Given the description of an element on the screen output the (x, y) to click on. 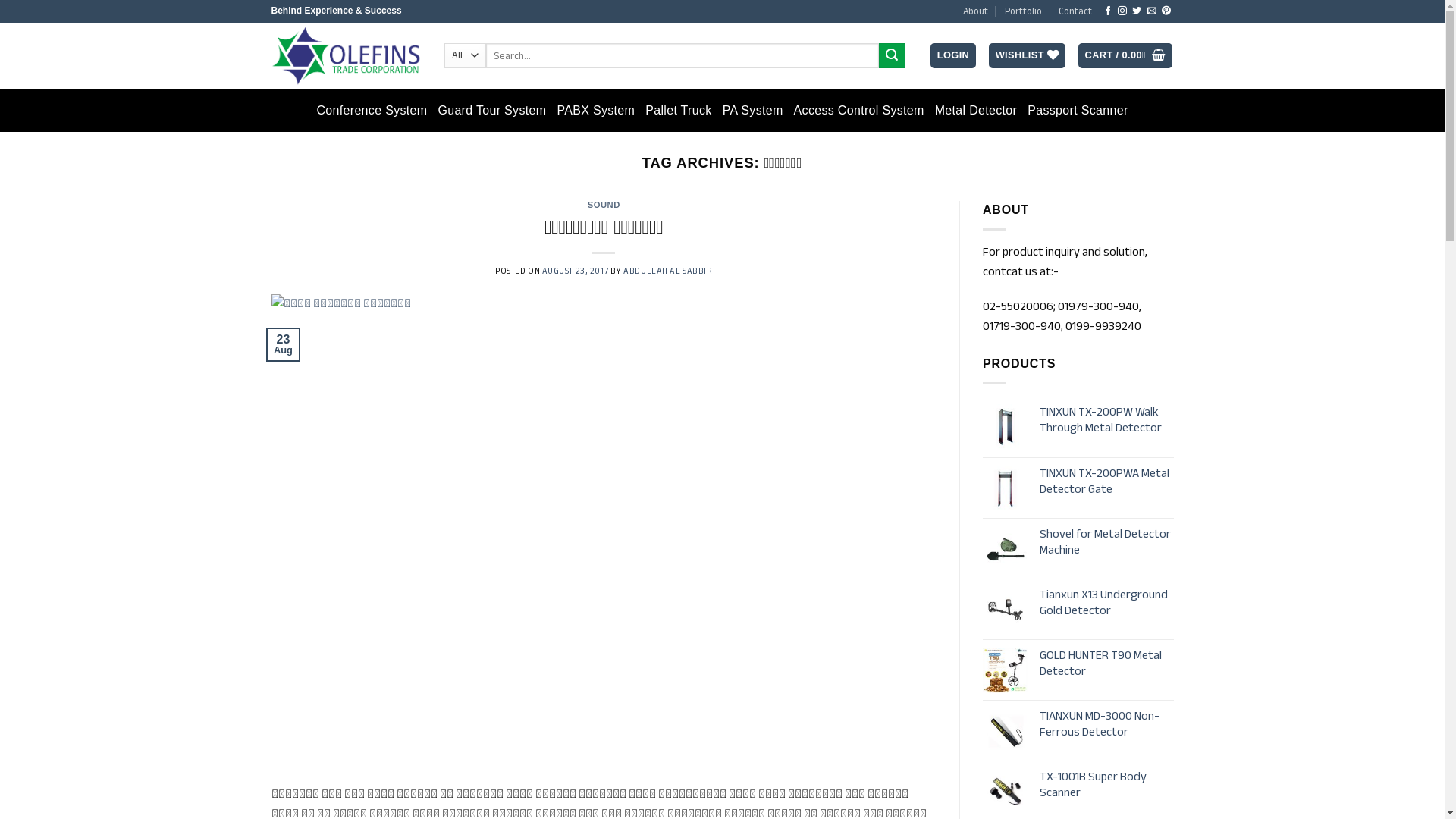
PABX System Element type: text (595, 109)
Follow on Instagram Element type: hover (1121, 11)
Follow on Facebook Element type: hover (1107, 11)
Pallet Truck Element type: text (678, 109)
Portfolio Element type: text (1022, 11)
AUGUST 23, 2017 Element type: text (575, 271)
Search Element type: text (891, 56)
Passport Scanner Element type: text (1077, 109)
About Element type: text (975, 11)
WISHLIST Element type: text (1026, 55)
Tianxun X13 Underground Gold Detector Element type: text (1106, 602)
Behind Experience & Success Element type: hover (346, 54)
GOLD HUNTER T90 Metal Detector Element type: text (1106, 663)
SOUND Element type: text (603, 204)
Guard Tour System Element type: text (491, 109)
Shovel for Metal Detector Machine Element type: text (1106, 542)
ABDULLAH AL SABBIR Element type: text (667, 271)
Access Control System Element type: text (858, 109)
LOGIN Element type: text (952, 55)
Follow on Pinterest Element type: hover (1165, 11)
Send us an email Element type: hover (1151, 11)
PA System Element type: text (752, 109)
Follow on Twitter Element type: hover (1136, 11)
TINXUN TX-200PW Walk Through Metal Detector Element type: text (1106, 420)
Metal Detector Element type: text (976, 109)
TINXUN TX-200PWA Metal Detector Gate Element type: text (1106, 481)
Contact Element type: text (1075, 11)
TX-1001B Super Body Scanner Element type: text (1106, 784)
TIANXUN MD-3000 Non-Ferrous Detector Element type: text (1106, 724)
Conference System Element type: text (371, 109)
